Given the description of an element on the screen output the (x, y) to click on. 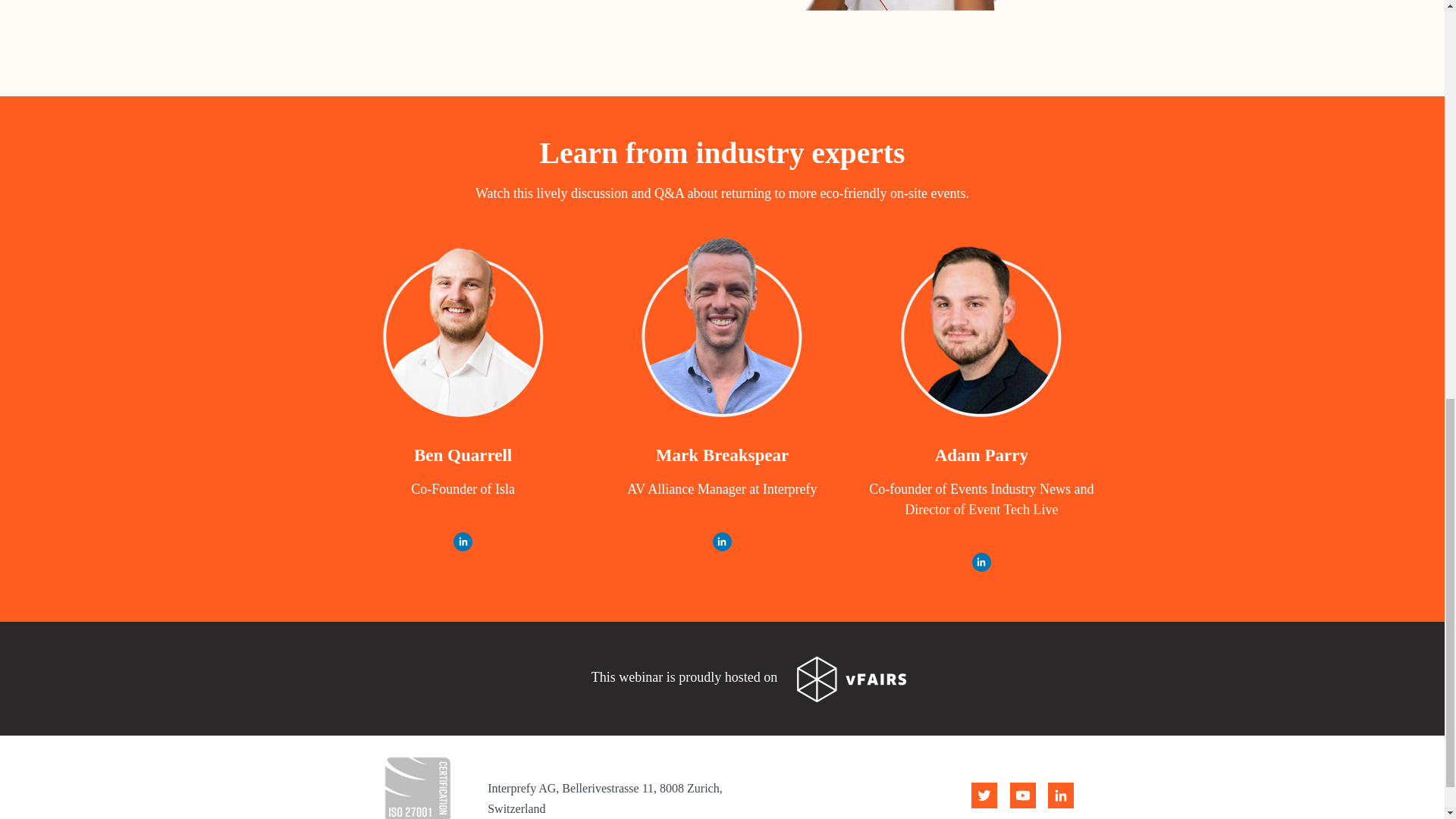
Interprefy Mark Breakspear (721, 329)
Interprefy Adam Parry (980, 329)
Interprefy Ben Quarrell (462, 329)
iso 27001 bw (416, 782)
